Given the description of an element on the screen output the (x, y) to click on. 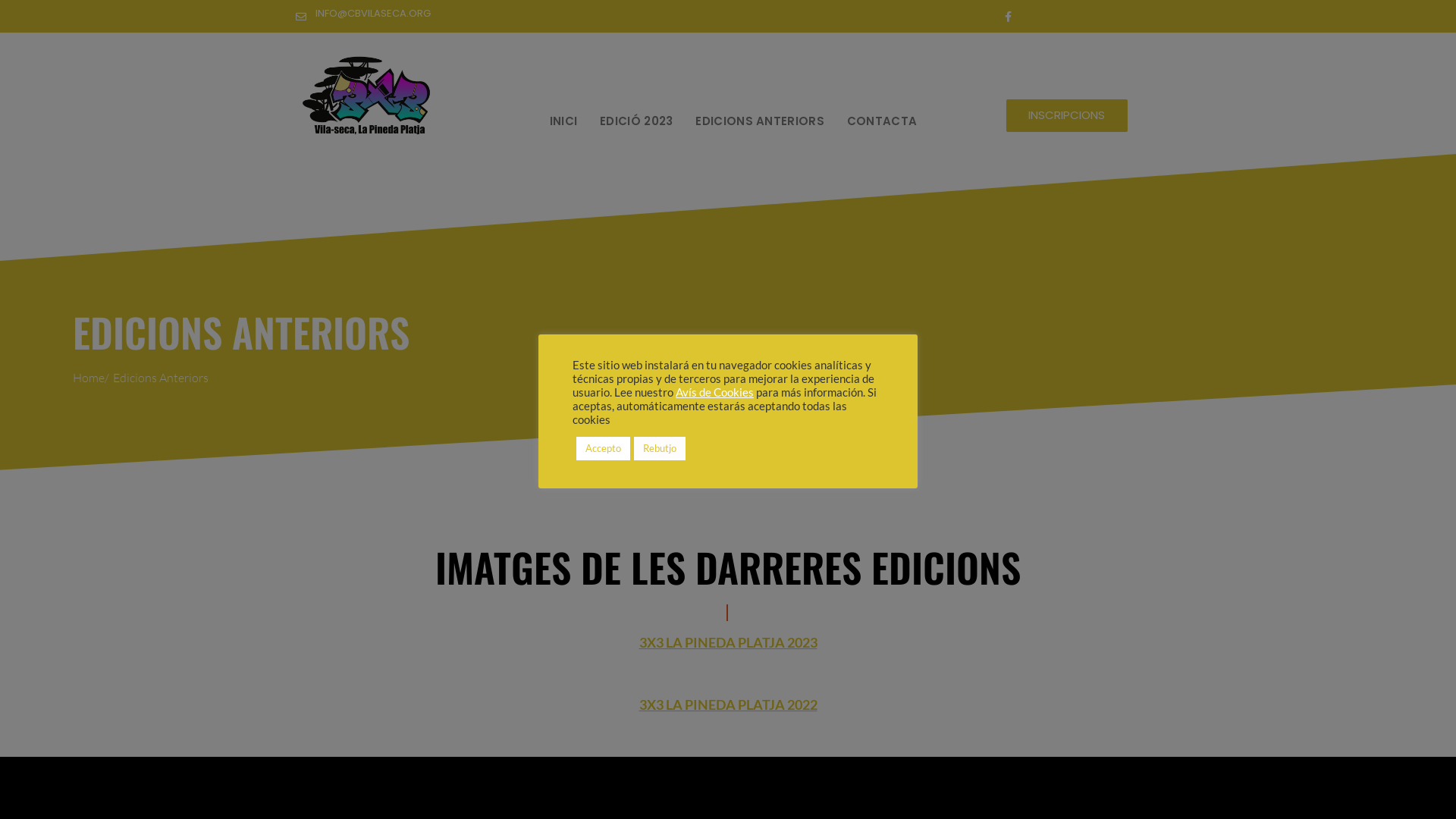
INFO@CBVILASECA.ORG Element type: text (372, 13)
Rebutjo Element type: text (659, 448)
EDICIONS ANTERIORS Element type: text (759, 121)
CONTACTA Element type: text (881, 121)
3X3 LA PINEDA PLATJA 2023 Element type: text (727, 641)
INICI Element type: text (563, 121)
3X3 LA PINEDA PLATJA 2022 Element type: text (727, 704)
Accepto Element type: text (603, 448)
INSCRIPCIONS Element type: text (1066, 115)
